Given the description of an element on the screen output the (x, y) to click on. 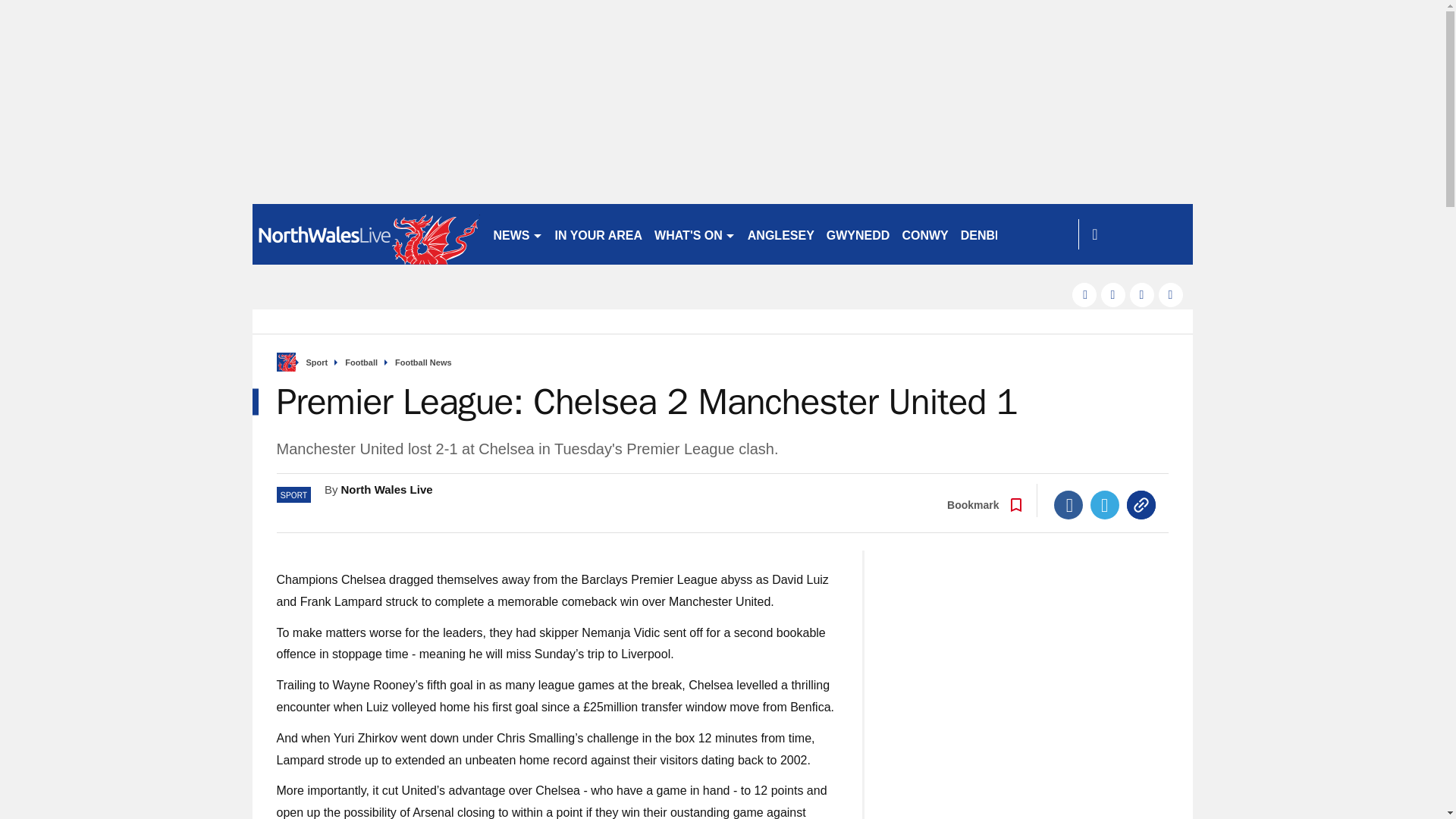
ANGLESEY (781, 233)
NEWS (517, 233)
Facebook (1068, 504)
IN YOUR AREA (598, 233)
GWYNEDD (858, 233)
northwales (365, 233)
twitter (1112, 294)
Twitter (1104, 504)
DENBIGHSHIRE (1007, 233)
WHAT'S ON (694, 233)
facebook (1083, 294)
instagram (1170, 294)
pinterest (1141, 294)
CONWY (924, 233)
